Given the description of an element on the screen output the (x, y) to click on. 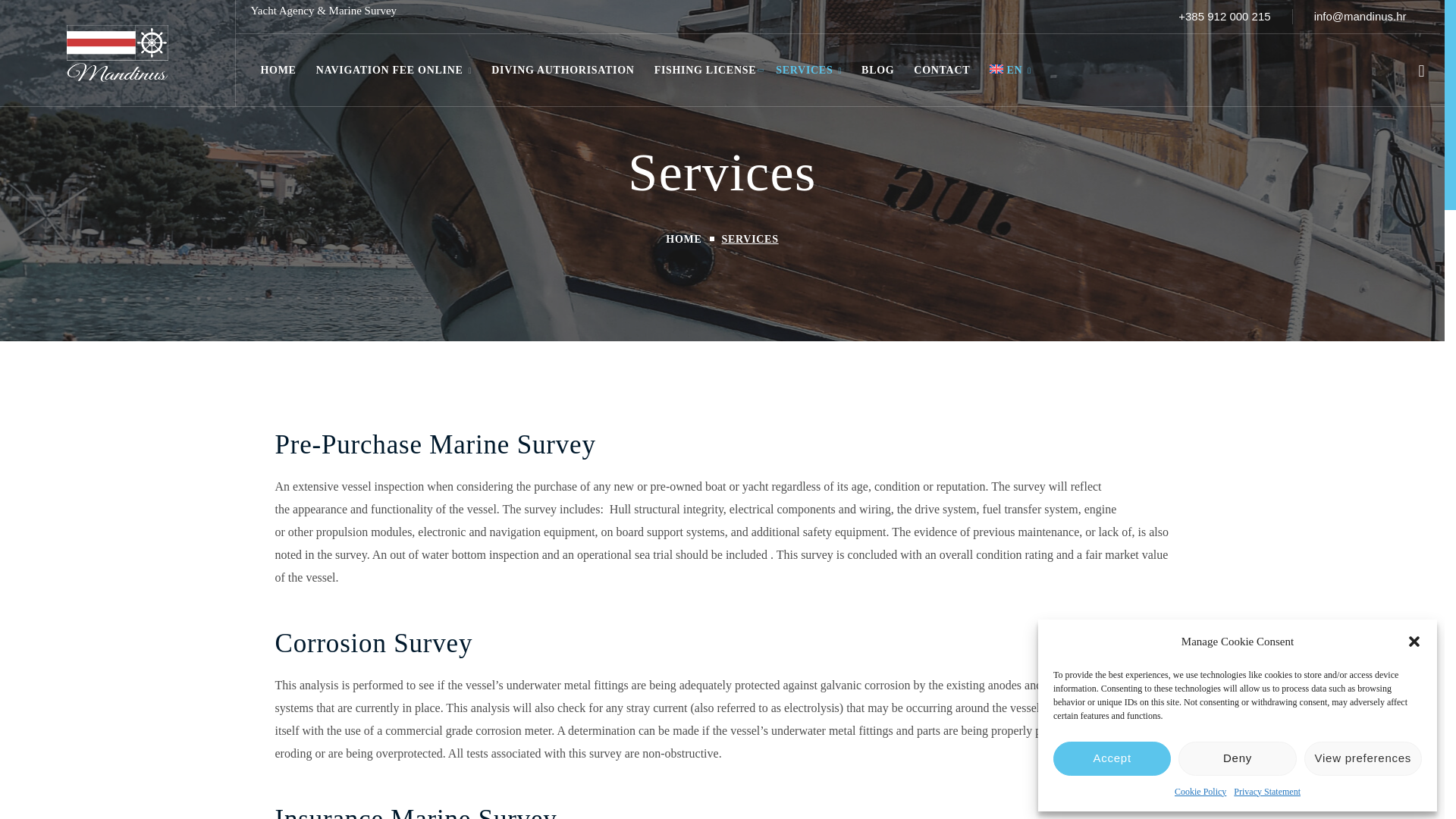
Privacy Statement (1266, 791)
Cookie Policy (1199, 791)
NAVIGATION FEE ONLINE (394, 70)
View preferences (1363, 758)
FISHING LICENSE (705, 70)
Deny (1236, 758)
Accept (1111, 758)
SERVICES (808, 70)
DIVING AUTHORISATION (562, 70)
